Given the description of an element on the screen output the (x, y) to click on. 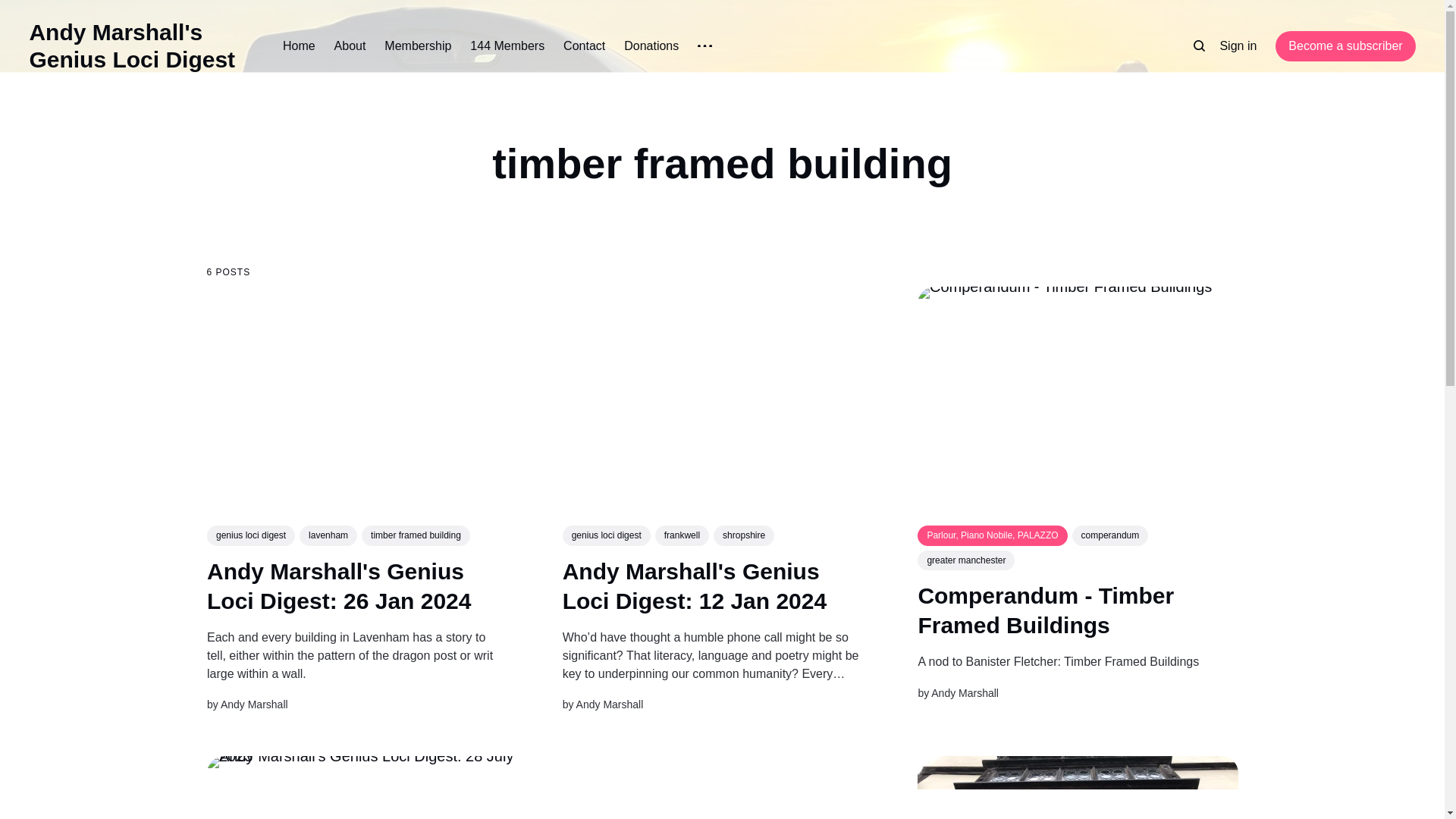
Andy Marshall's Genius Loci Digest: 12 Jan 2024 (694, 585)
Membership (417, 45)
Sign in (1238, 45)
Contact (584, 45)
Andy Marshall (252, 705)
Andy Marshall (964, 693)
genius loci digest (605, 535)
Donations (651, 45)
frankwell (680, 535)
comperandum (1109, 535)
Andy Marshall's Genius Loci Digest: 26 Jan 2024 (338, 585)
Comperandum - Timber Framed Buildings (1045, 610)
Andy Marshall (609, 705)
Home (298, 45)
timber framed building (415, 536)
